Given the description of an element on the screen output the (x, y) to click on. 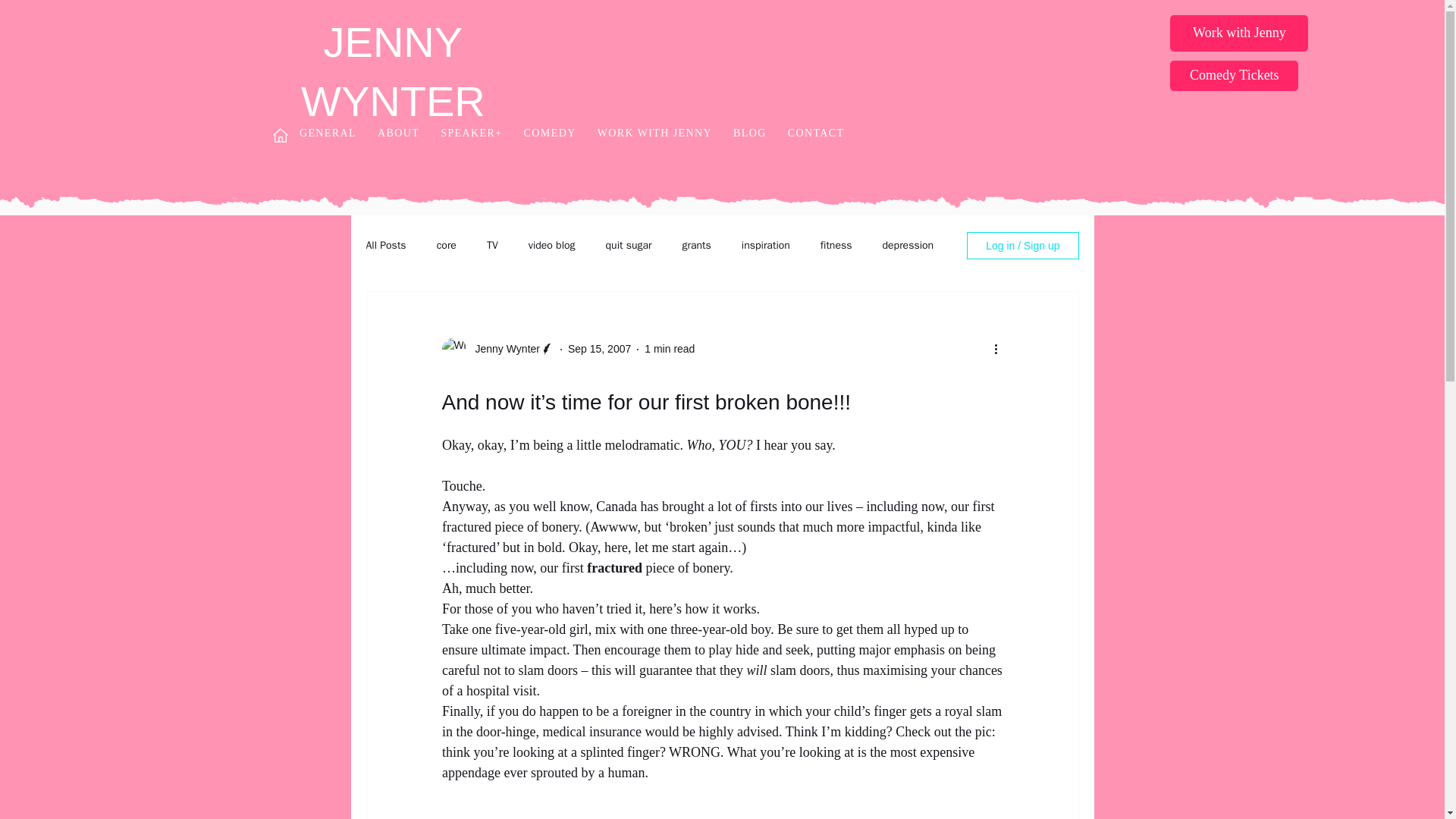
core (446, 245)
Sep 15, 2007 (598, 348)
COMEDY (549, 133)
Jenny Wynter (501, 349)
video blog (551, 245)
Comedy Tickets (1234, 75)
BLOG (749, 133)
CONTACT (815, 133)
Work with Jenny (1238, 33)
grants (696, 245)
